Given the description of an element on the screen output the (x, y) to click on. 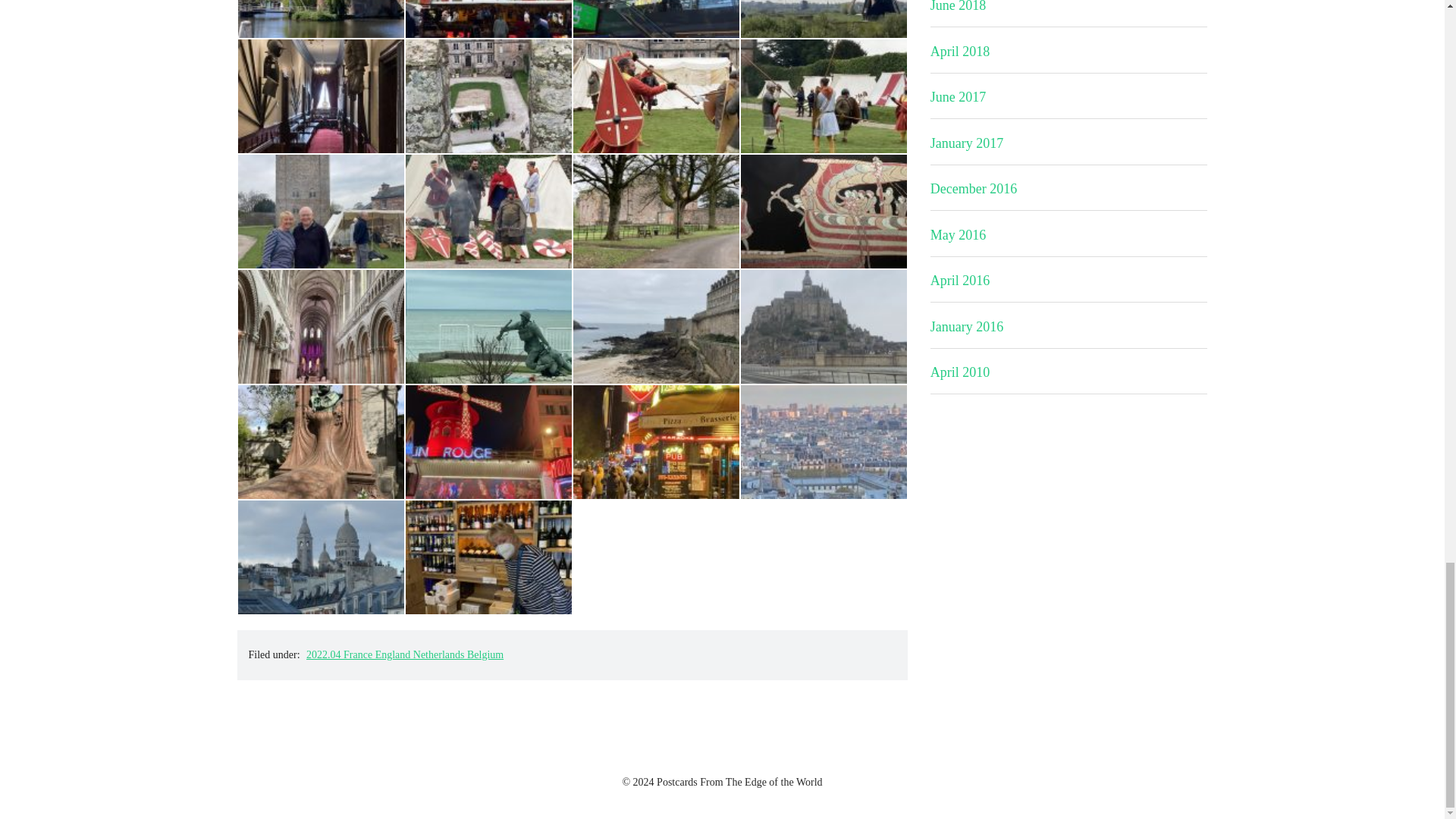
Appleby Castle (489, 111)
Appleby Castle (489, 226)
2022.04 France England Netherlands Belgium (404, 654)
Appleby Castle Hotel (321, 111)
Market, Rotterdam (656, 33)
car ferry to England (824, 226)
Kinder Dijk, near Rotterdam (824, 33)
Appleby Castle (321, 226)
Appleby Castle (824, 111)
Delft (489, 33)
